Given the description of an element on the screen output the (x, y) to click on. 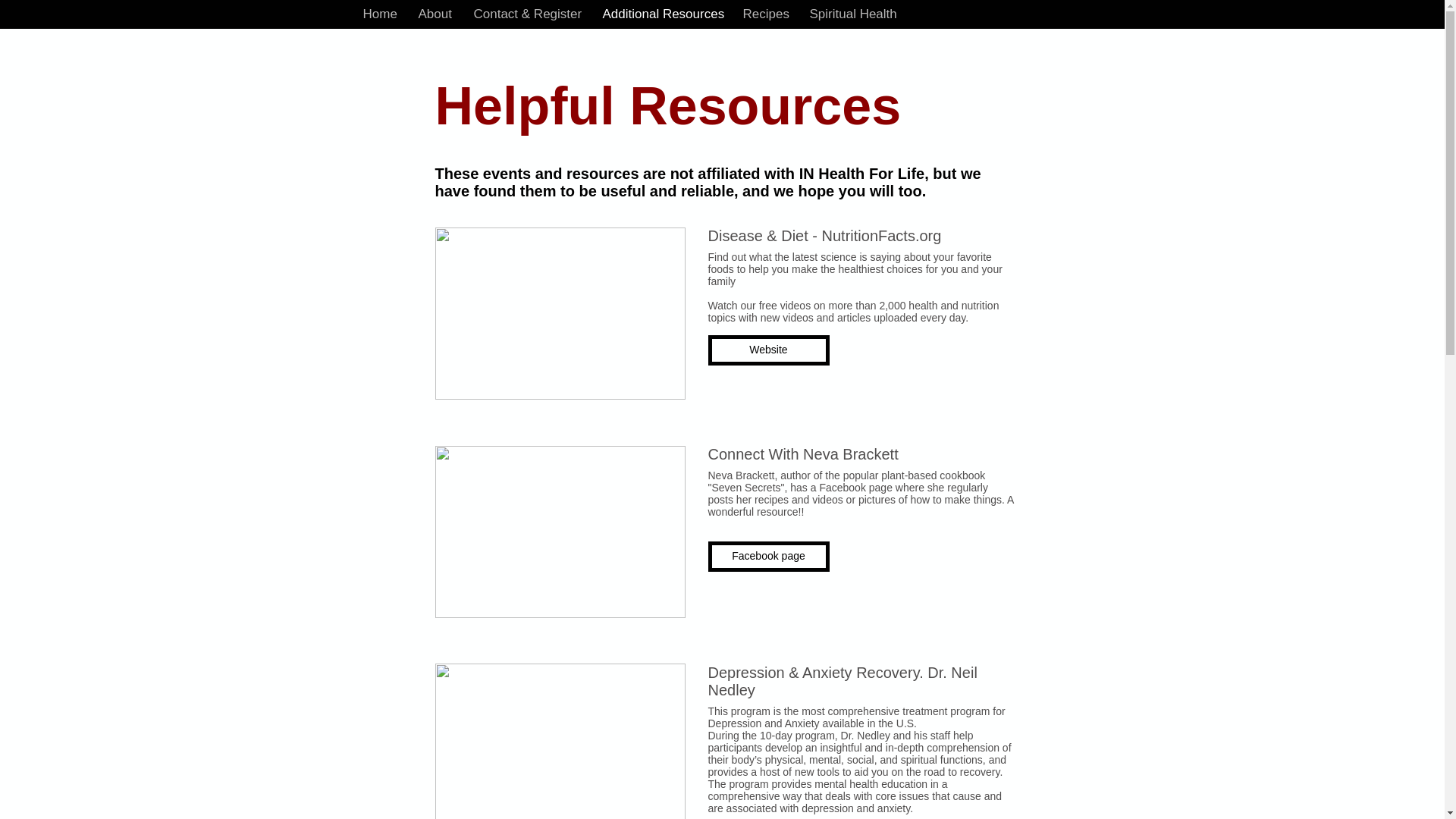
Website (768, 349)
About (433, 13)
Additional Resources (661, 13)
7e92ee957ca622f043e0c7d0ce61451d.jpg (560, 741)
Facebook page (768, 556)
Spiritual Health (851, 13)
Recipes (763, 13)
Home (379, 13)
